Given the description of an element on the screen output the (x, y) to click on. 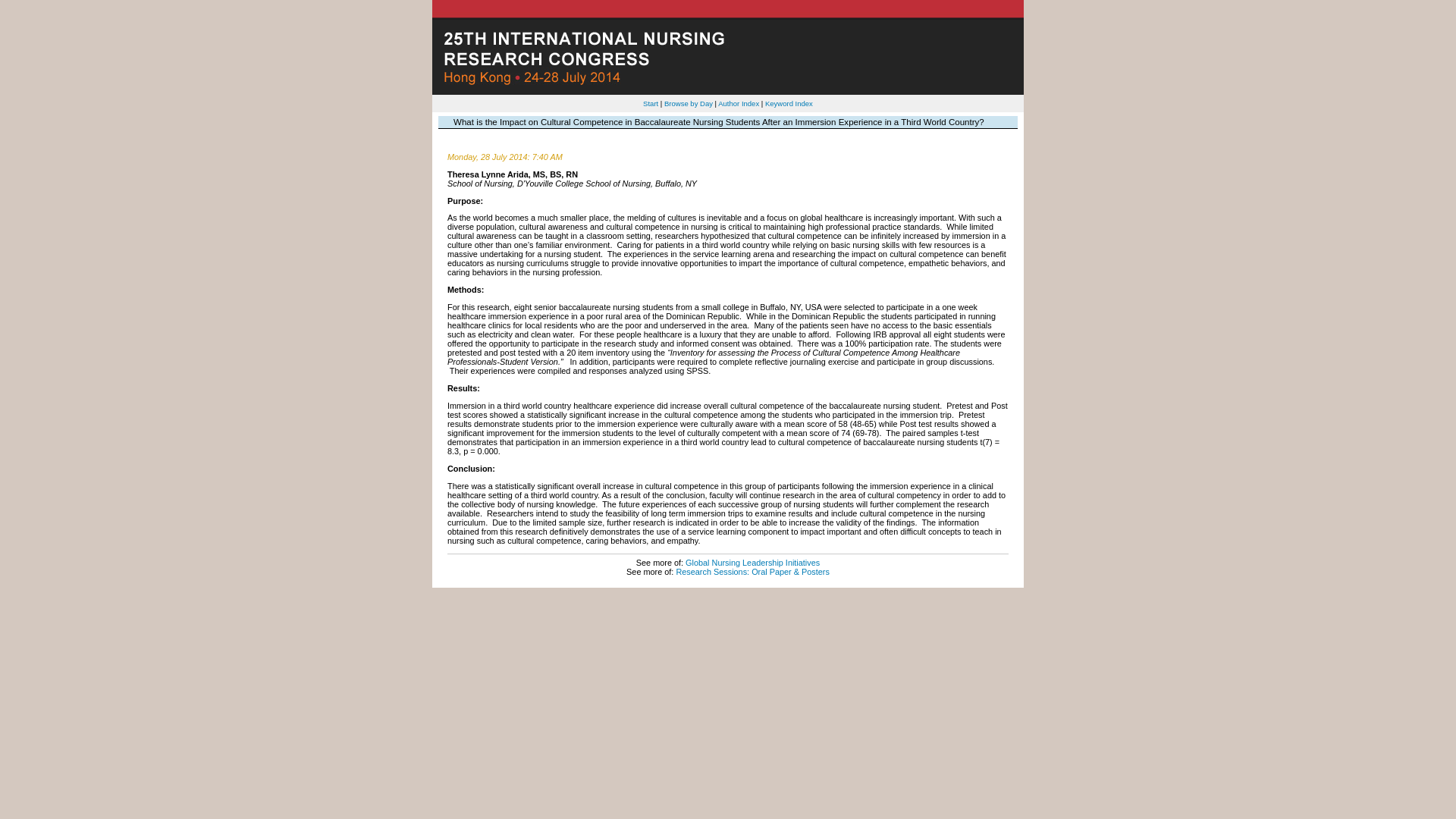
Keyword Index (788, 103)
Start (650, 103)
Browse by Day (688, 103)
Author Index (737, 103)
Global Nursing Leadership Initiatives (752, 562)
